Given the description of an element on the screen output the (x, y) to click on. 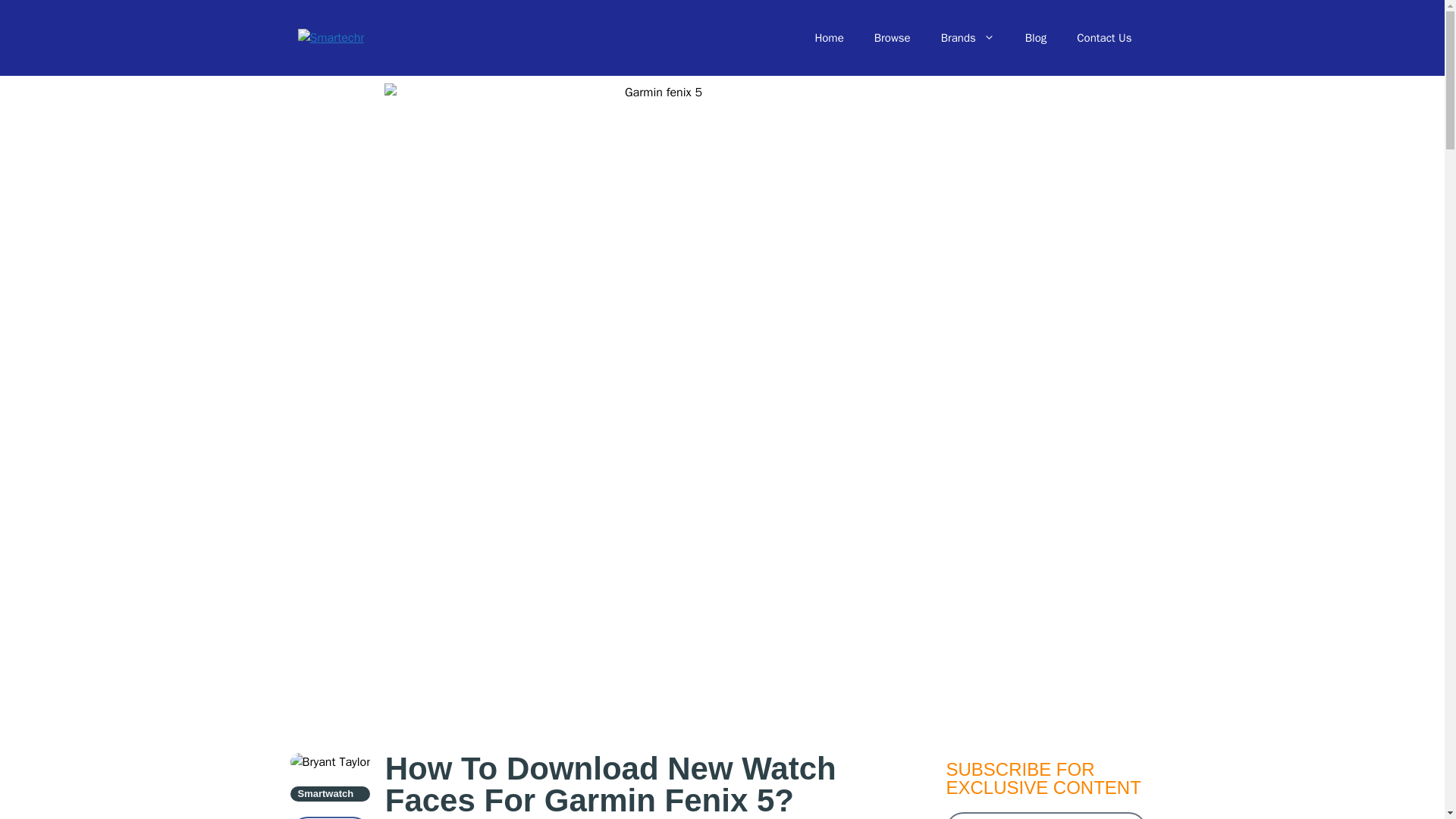
Smartechr (330, 37)
Brands (968, 37)
Blog (1035, 37)
Contact Us (1104, 37)
Smartwatch (325, 793)
Smartechr (330, 37)
Browse (892, 37)
Home (829, 37)
